Given the description of an element on the screen output the (x, y) to click on. 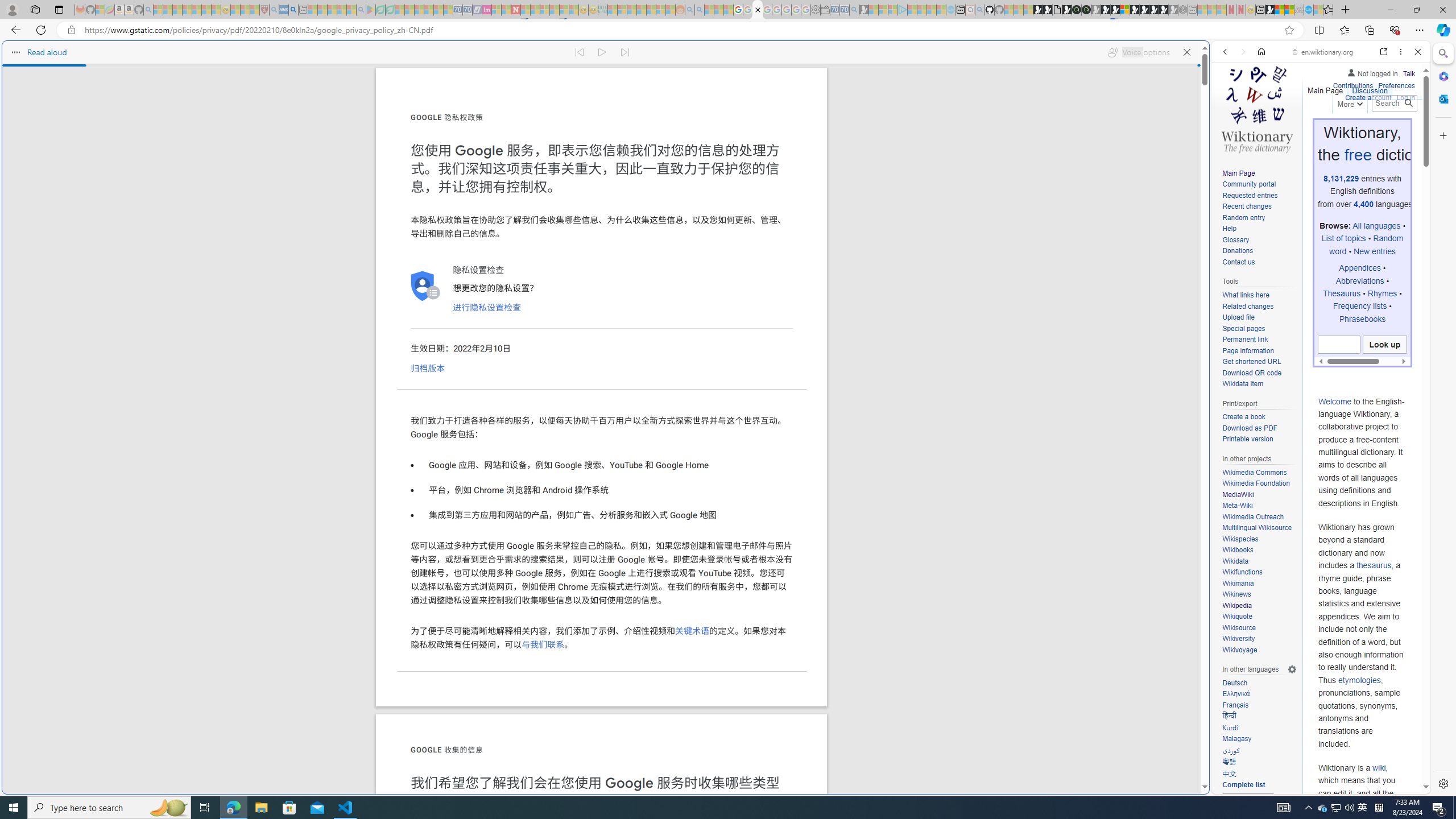
Wikimedia Foundation (1255, 483)
Welcome (1334, 401)
Rhymes (1382, 293)
Wikimedia Commons (1254, 472)
Page information (1247, 350)
MSN (1118, 536)
Random word (1366, 244)
AutomationID: bodySearchInput0.099163710994 (1338, 344)
Search the web (1326, 78)
